Given the description of an element on the screen output the (x, y) to click on. 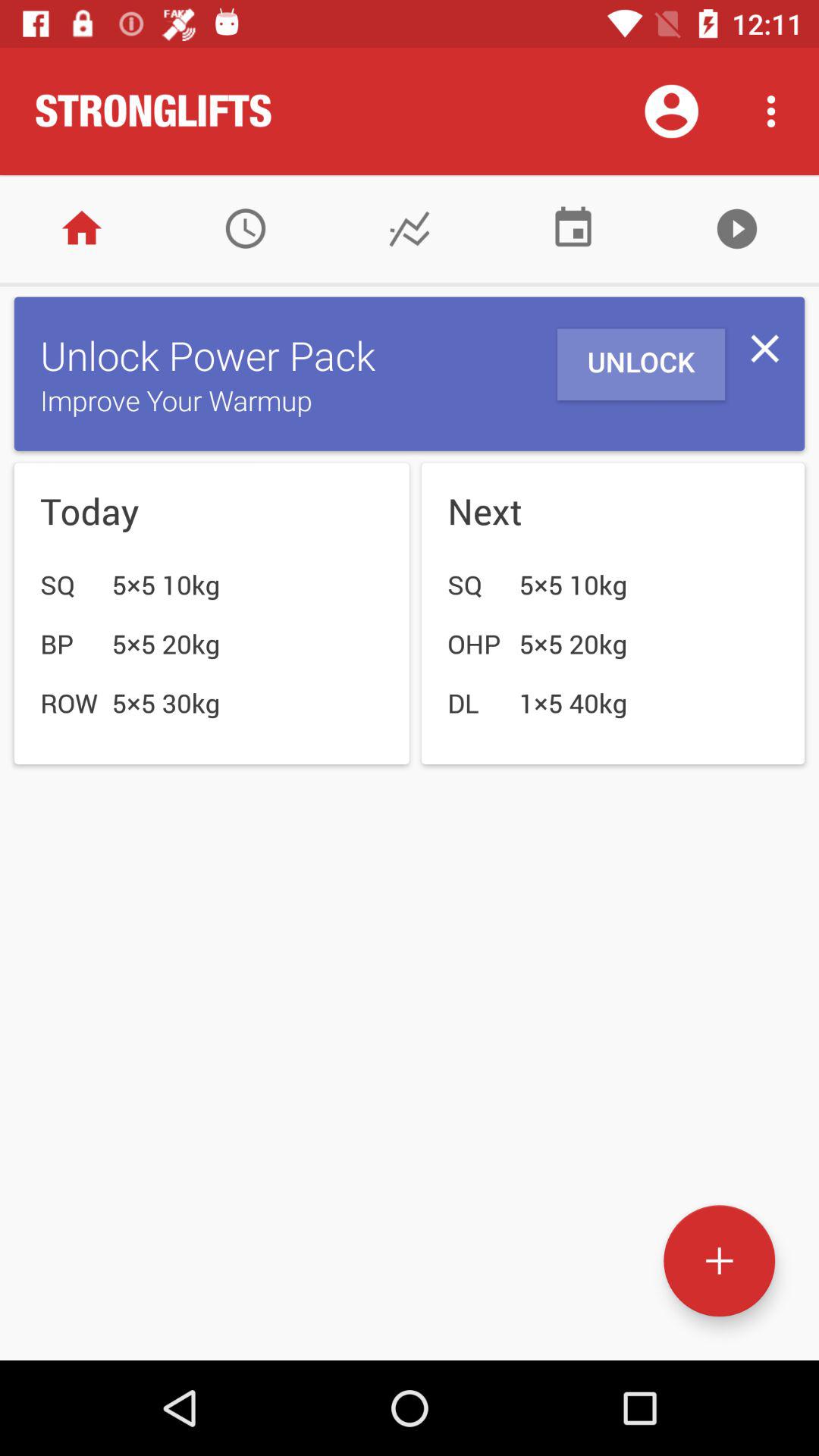
turn off the item next to unlock item (764, 348)
